Given the description of an element on the screen output the (x, y) to click on. 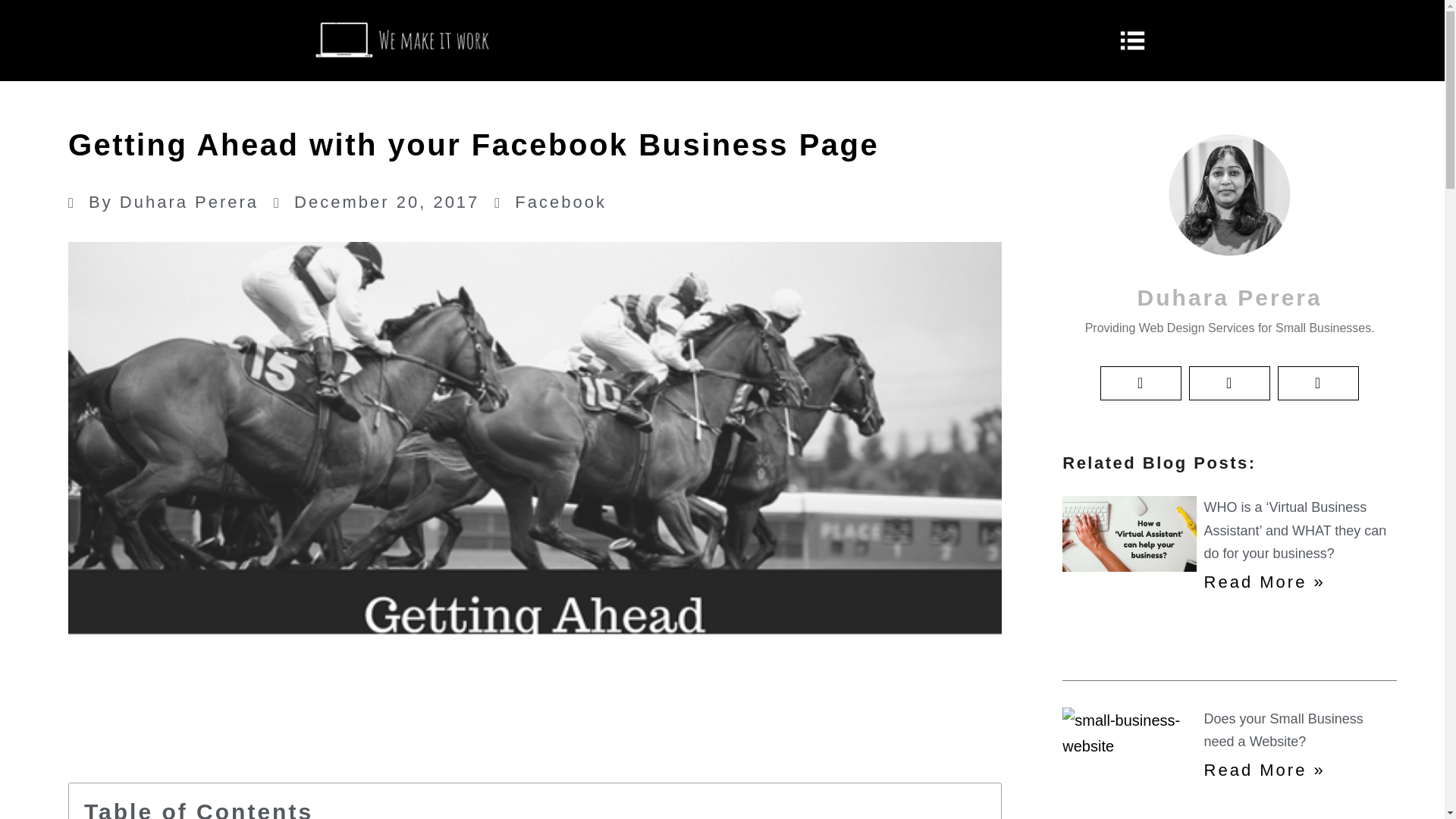
December 20, 2017 (376, 202)
Facebook (561, 201)
By Duhara Perera (163, 202)
Does your Small Business need a Website? (1283, 730)
